Given the description of an element on the screen output the (x, y) to click on. 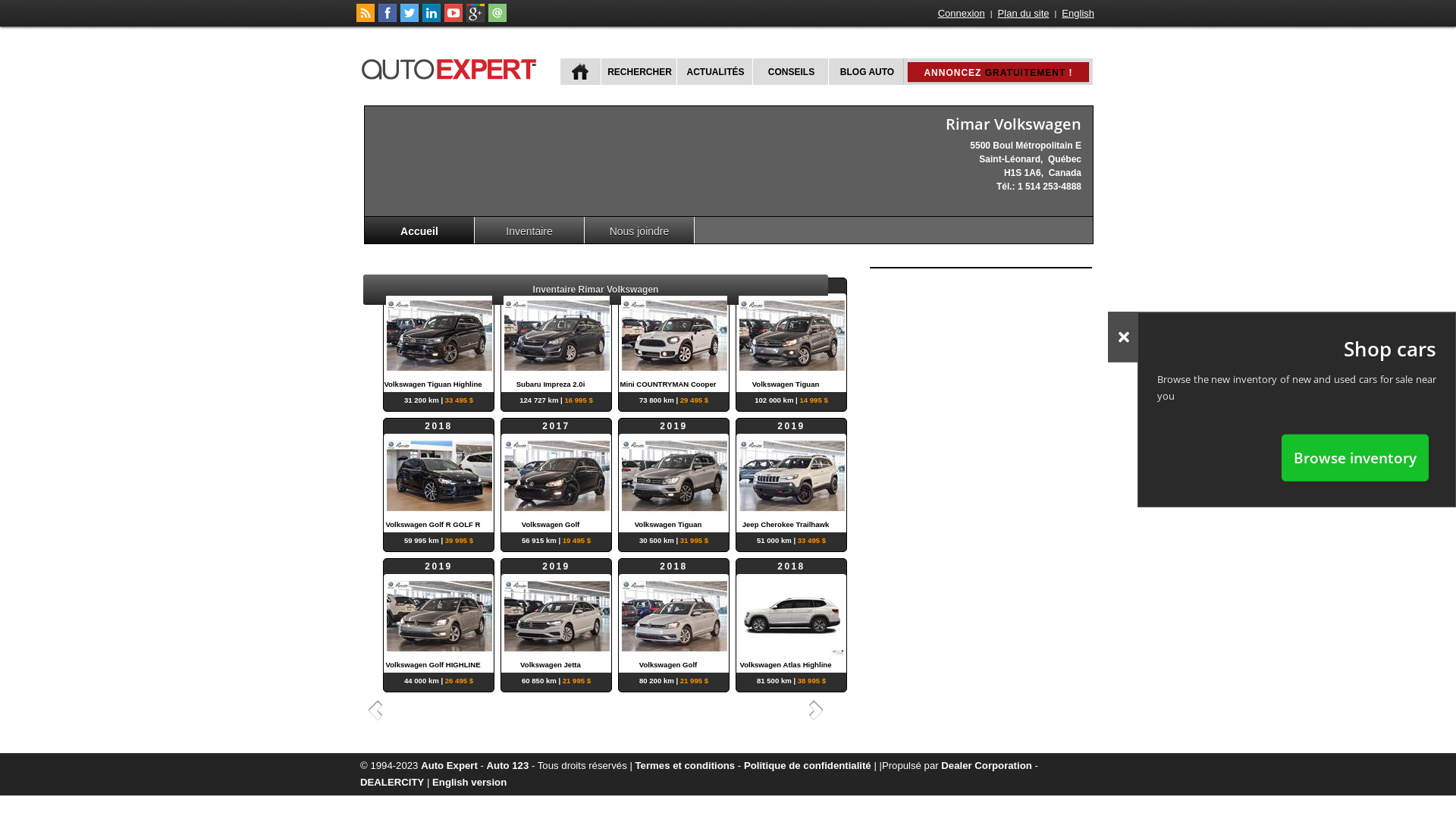
Suivez Publications Le Guide Inc. sur LinkedIn Element type: hover (431, 18)
ACCUEIL Element type: text (580, 71)
Suivant Element type: hover (818, 709)
Auto 123 Element type: text (507, 765)
Auto Expert Element type: text (448, 765)
Suivez autoExpert.ca sur Google Plus Element type: hover (475, 18)
BLOG AUTO Element type: text (865, 71)
2018
Volkswagen Golf TRENDLINE WOW 2018
80 200 km | 21 995 $ Element type: text (673, 615)
DEALERCITY Element type: text (391, 781)
Plan du site Element type: text (1023, 13)
Joindre autoExpert.ca Element type: hover (497, 18)
autoExpert.ca Element type: text (451, 66)
Inventaire Element type: text (529, 229)
CONSEILS Element type: text (789, 71)
Termes et conditions Element type: text (685, 765)
Browse inventory Element type: text (1354, 457)
English version Element type: text (469, 781)
Accueil Element type: text (419, 229)
2019
Mini COUNTRYMAN Cooper wow 2019
73 800 km | 29 495 $ Element type: text (673, 335)
English Element type: text (1077, 13)
Dealer Corporation Element type: text (986, 765)
ANNONCEZ GRATUITEMENT ! Element type: text (997, 71)
Connexion Element type: text (961, 13)
RECHERCHER Element type: text (637, 71)
Nous joindre Element type: text (639, 229)
Suivez autoExpert.ca sur Facebook Element type: hover (387, 18)
Suivez autoExpert.ca sur Youtube Element type: hover (453, 18)
Suivez autoExpert.ca sur Twitter Element type: hover (409, 18)
